Given the description of an element on the screen output the (x, y) to click on. 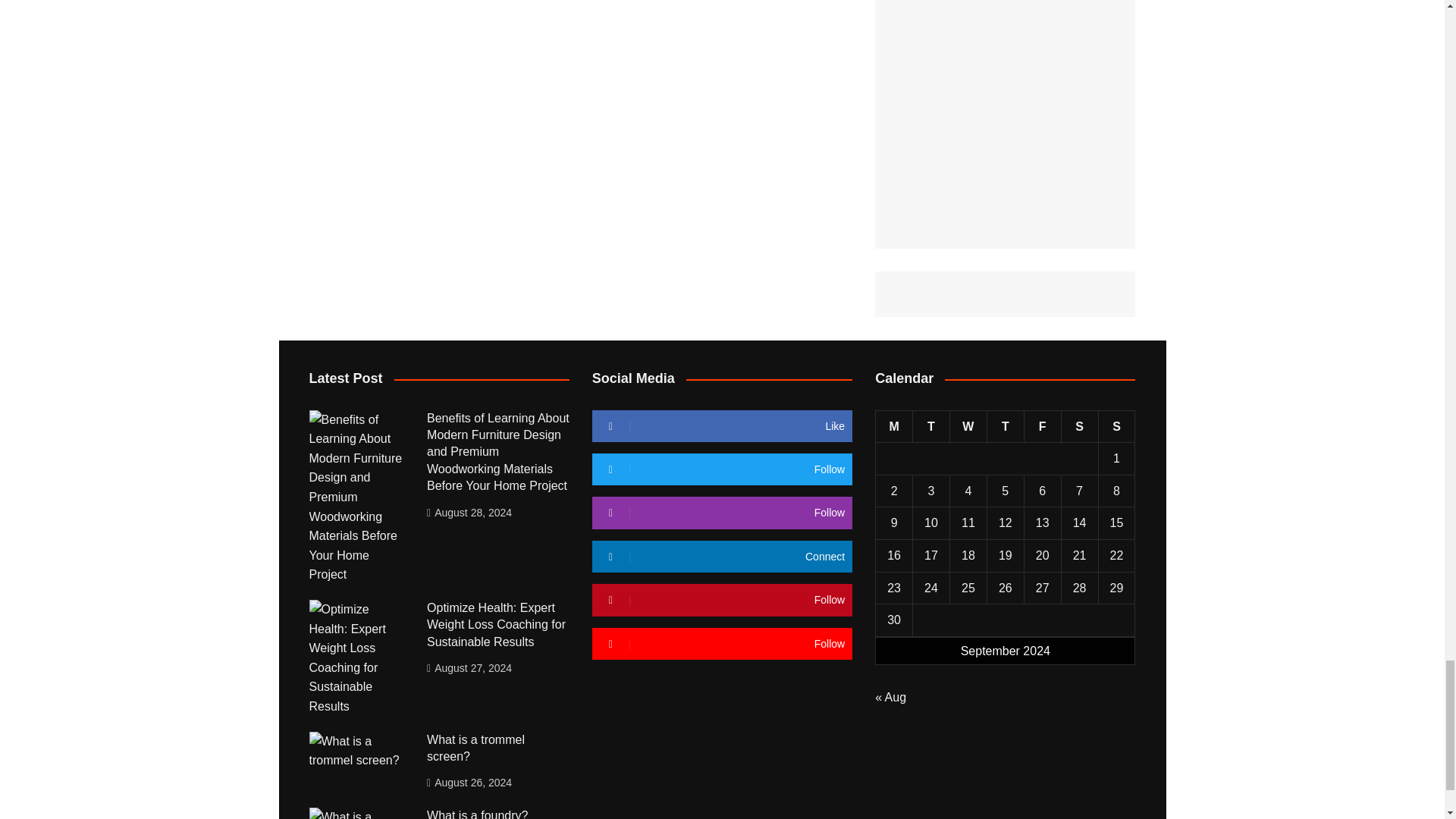
Wednesday (968, 426)
Sunday (1116, 426)
Saturday (1079, 426)
Friday (1042, 426)
Tuesday (931, 426)
Thursday (1005, 426)
Monday (894, 426)
